Given the description of an element on the screen output the (x, y) to click on. 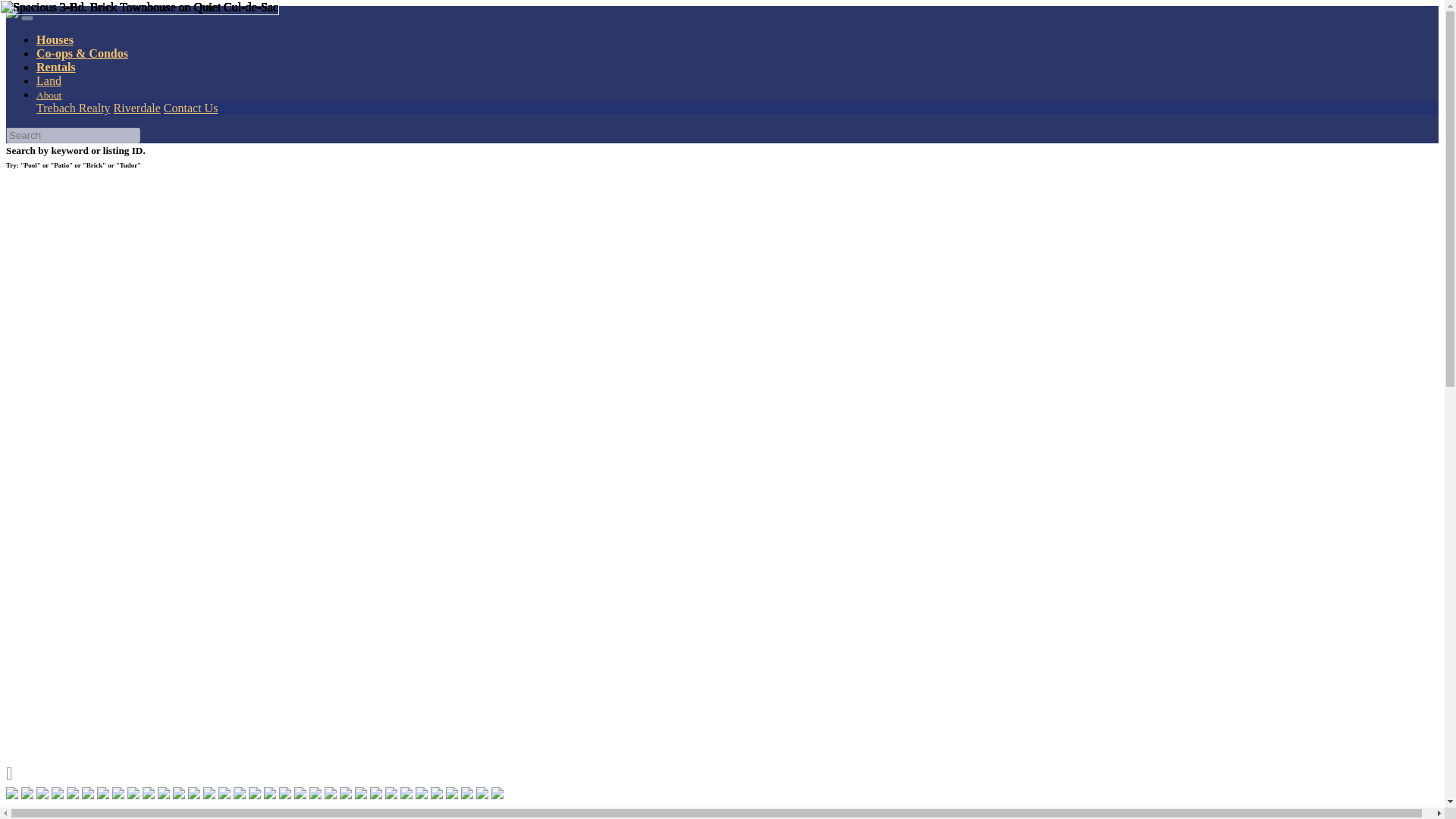
Contact Us (190, 107)
About (48, 93)
Riverdale (136, 107)
Land (48, 80)
Trebach Realty (73, 107)
Rentals (55, 66)
Houses (55, 39)
